Given the description of an element on the screen output the (x, y) to click on. 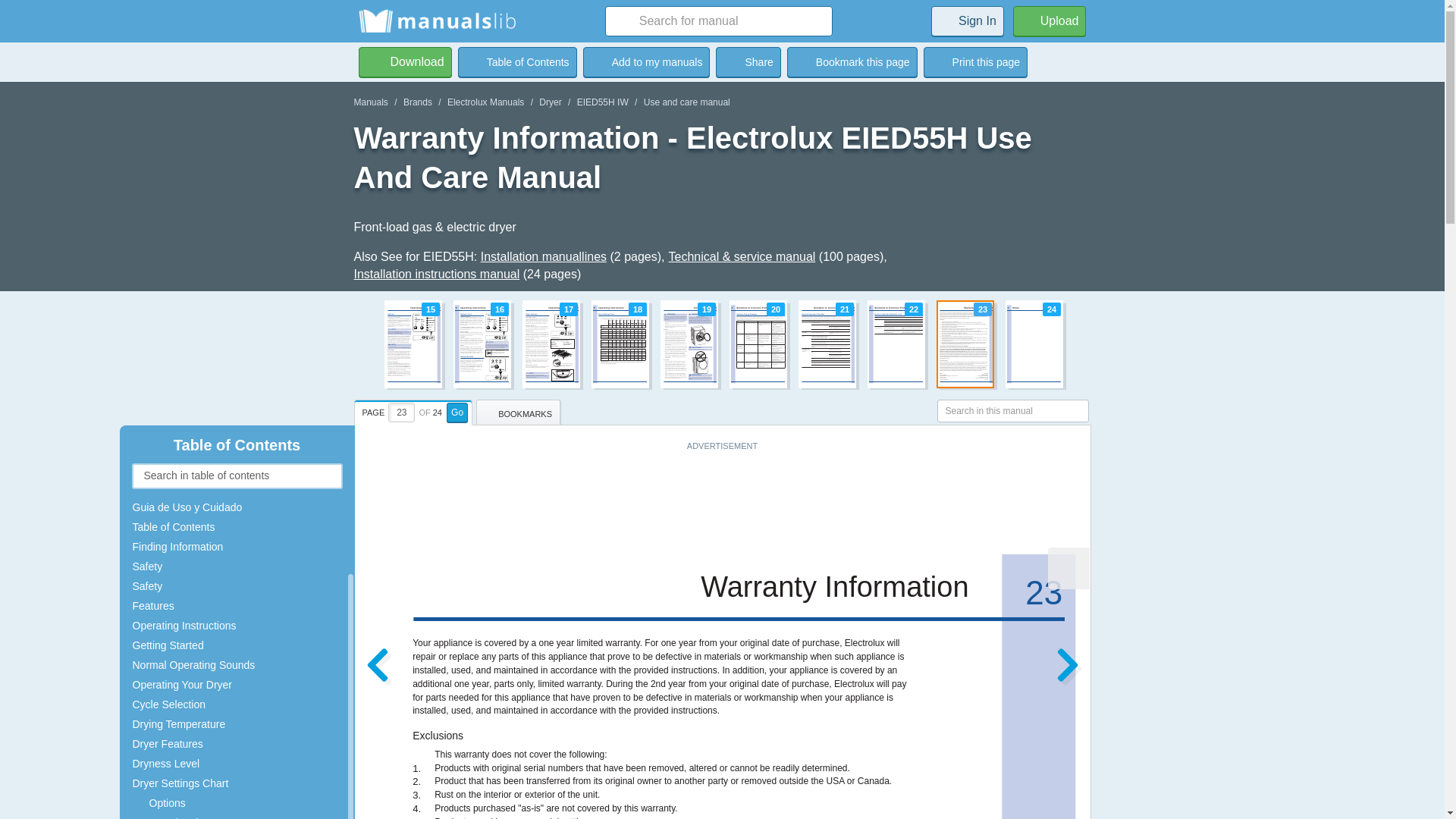
Download this manual (404, 61)
Download (404, 61)
Dryer (549, 102)
Share (748, 61)
Bookmark this manual (646, 61)
Brands (417, 102)
EIED55H IW (602, 102)
Bookmark this page (852, 61)
Installation instructions manual (436, 273)
Installation manuallines (543, 256)
